Given the description of an element on the screen output the (x, y) to click on. 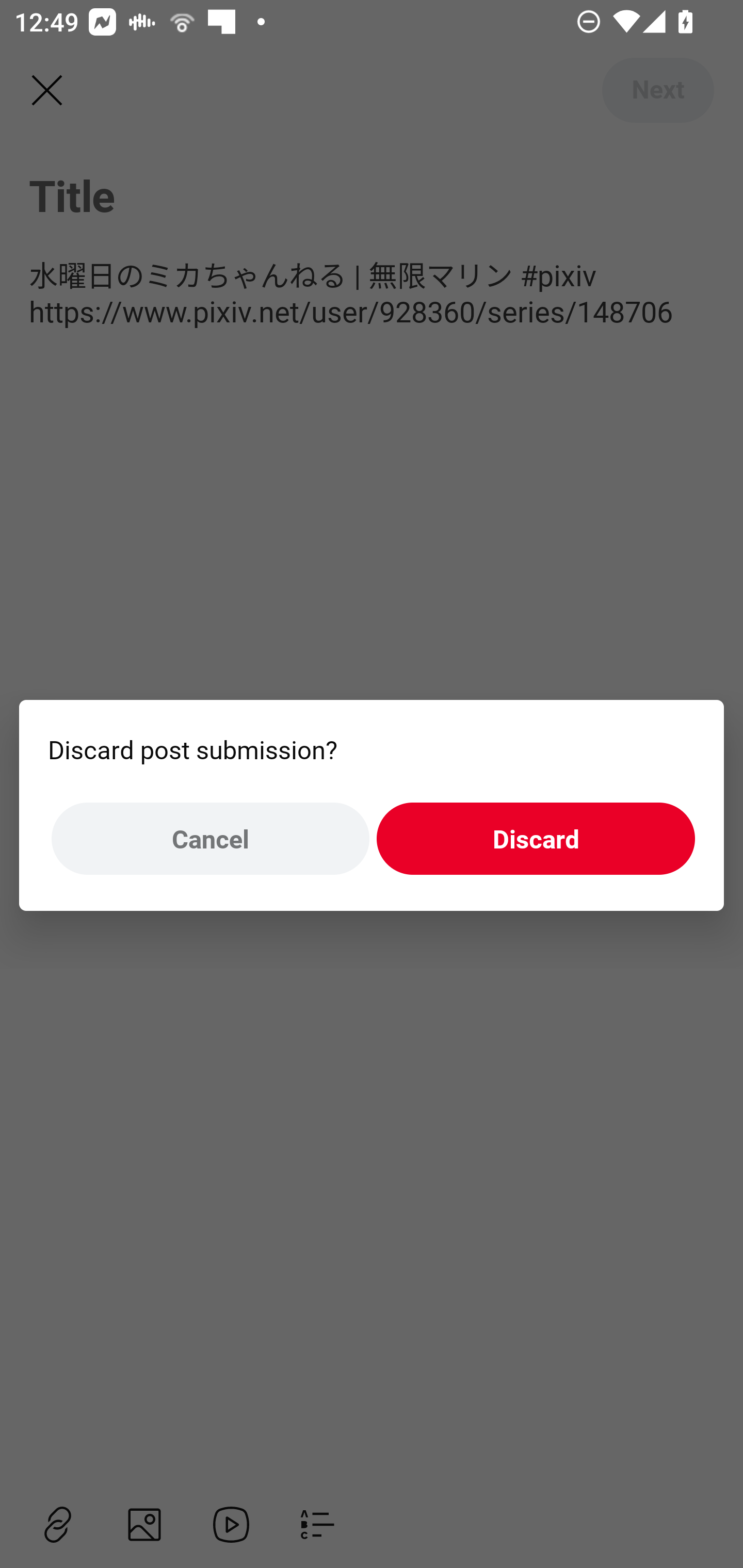
Cancel (210, 838)
Discard (535, 838)
